Given the description of an element on the screen output the (x, y) to click on. 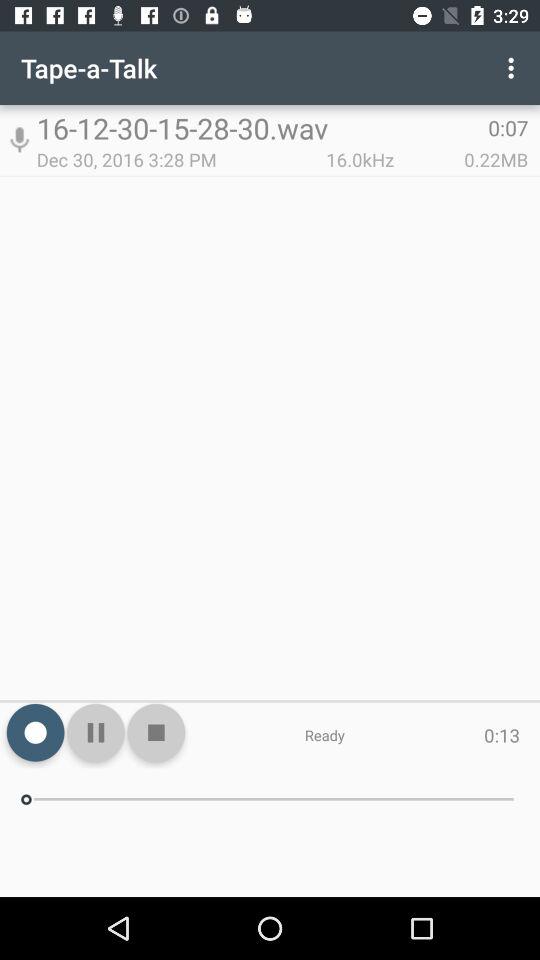
choose item next to 16 12 30 item (19, 140)
